Given the description of an element on the screen output the (x, y) to click on. 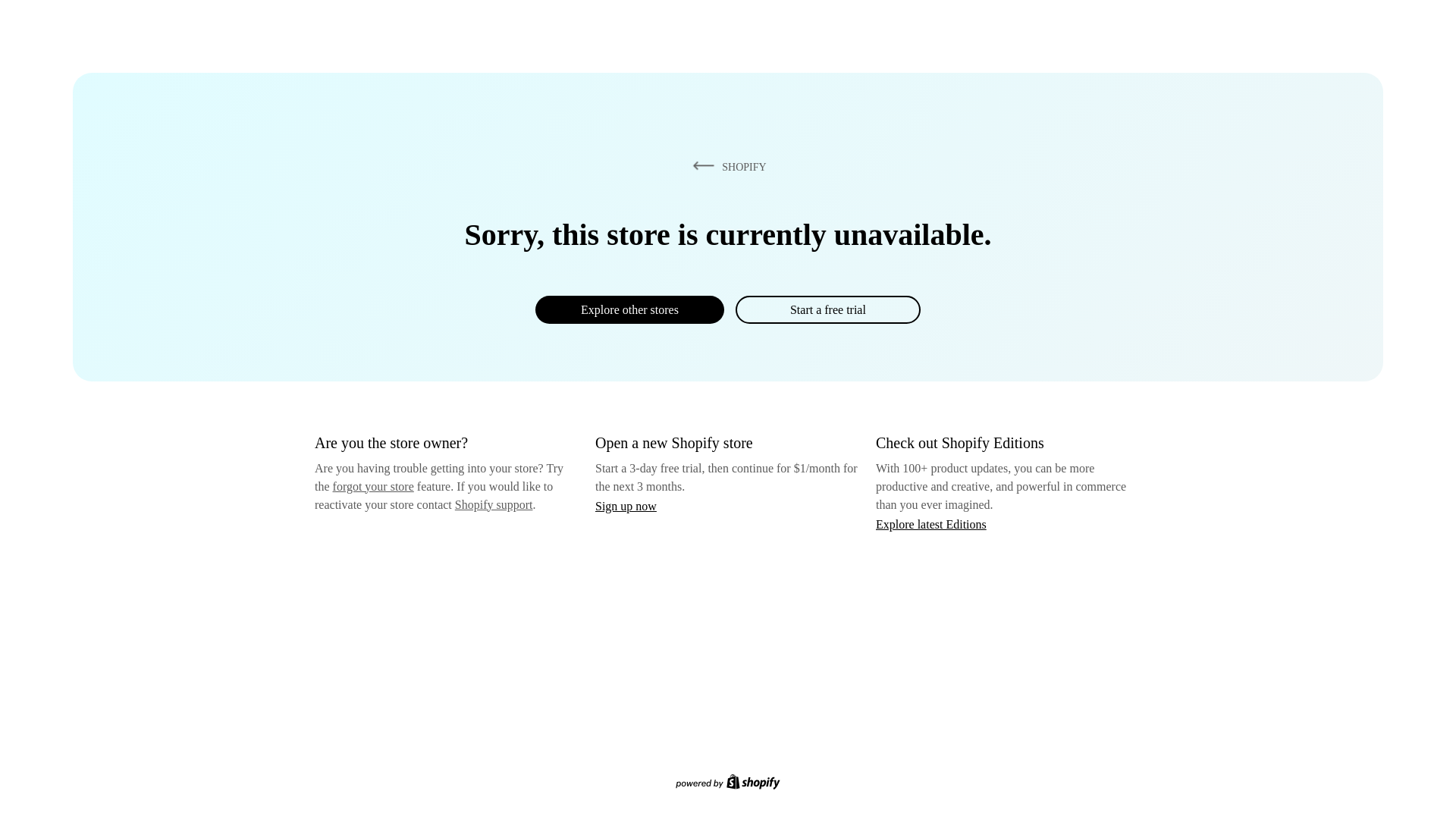
Explore other stores (629, 309)
Explore latest Editions (931, 523)
SHOPIFY (726, 166)
Shopify support (493, 504)
forgot your store (373, 486)
Start a free trial (827, 309)
Sign up now (625, 505)
